Given the description of an element on the screen output the (x, y) to click on. 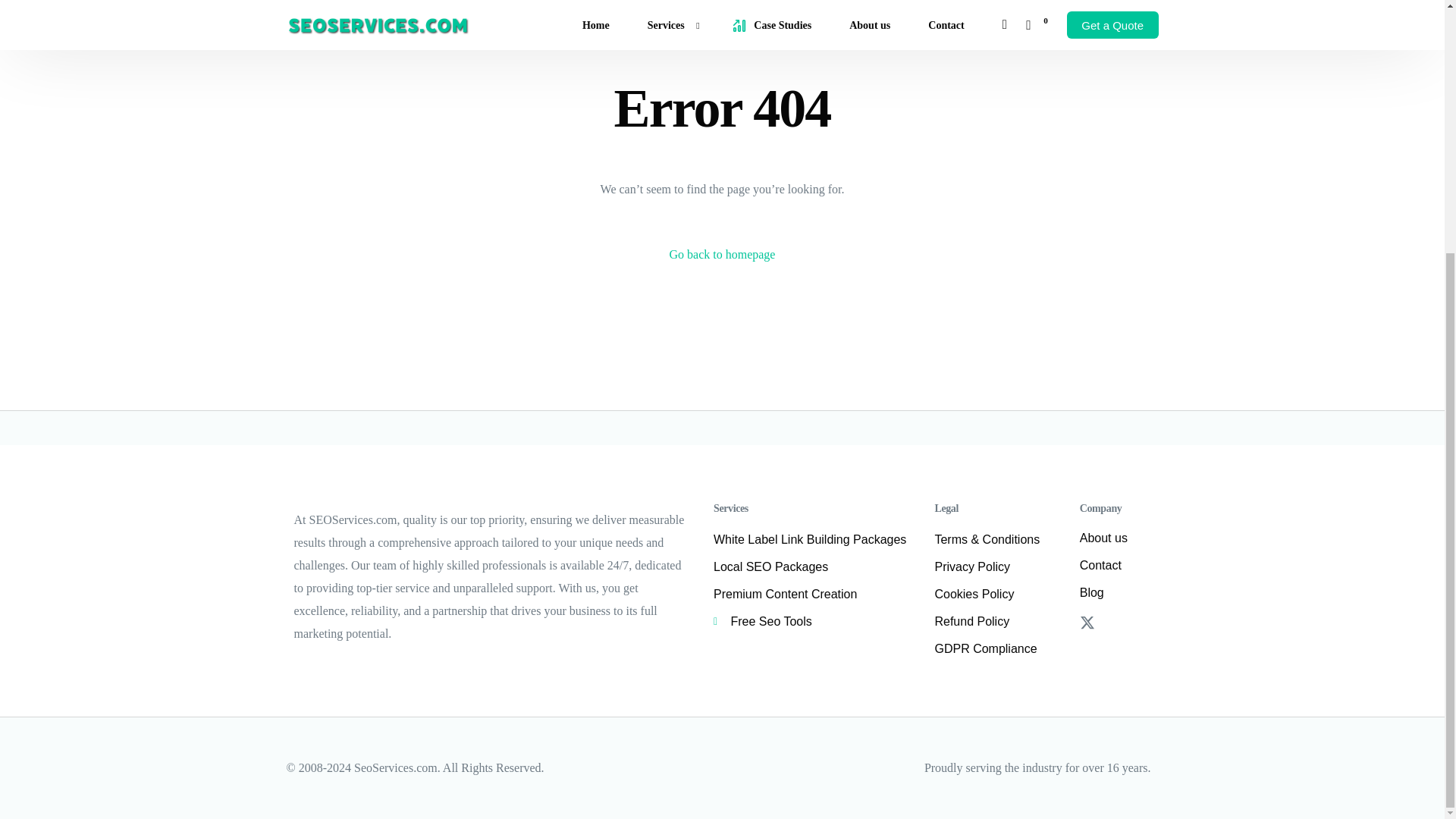
Free Seo Tools (818, 621)
Refund Policy (999, 621)
Blog (1119, 592)
About us (1119, 538)
GDPR Compliance (999, 649)
White Label Link Building Packages (818, 539)
Contact (1119, 565)
Premium Content Creation (818, 594)
Cookies Policy (999, 594)
Go back to homepage (722, 254)
Privacy Policy (999, 567)
Local SEO Packages (818, 567)
